Given the description of an element on the screen output the (x, y) to click on. 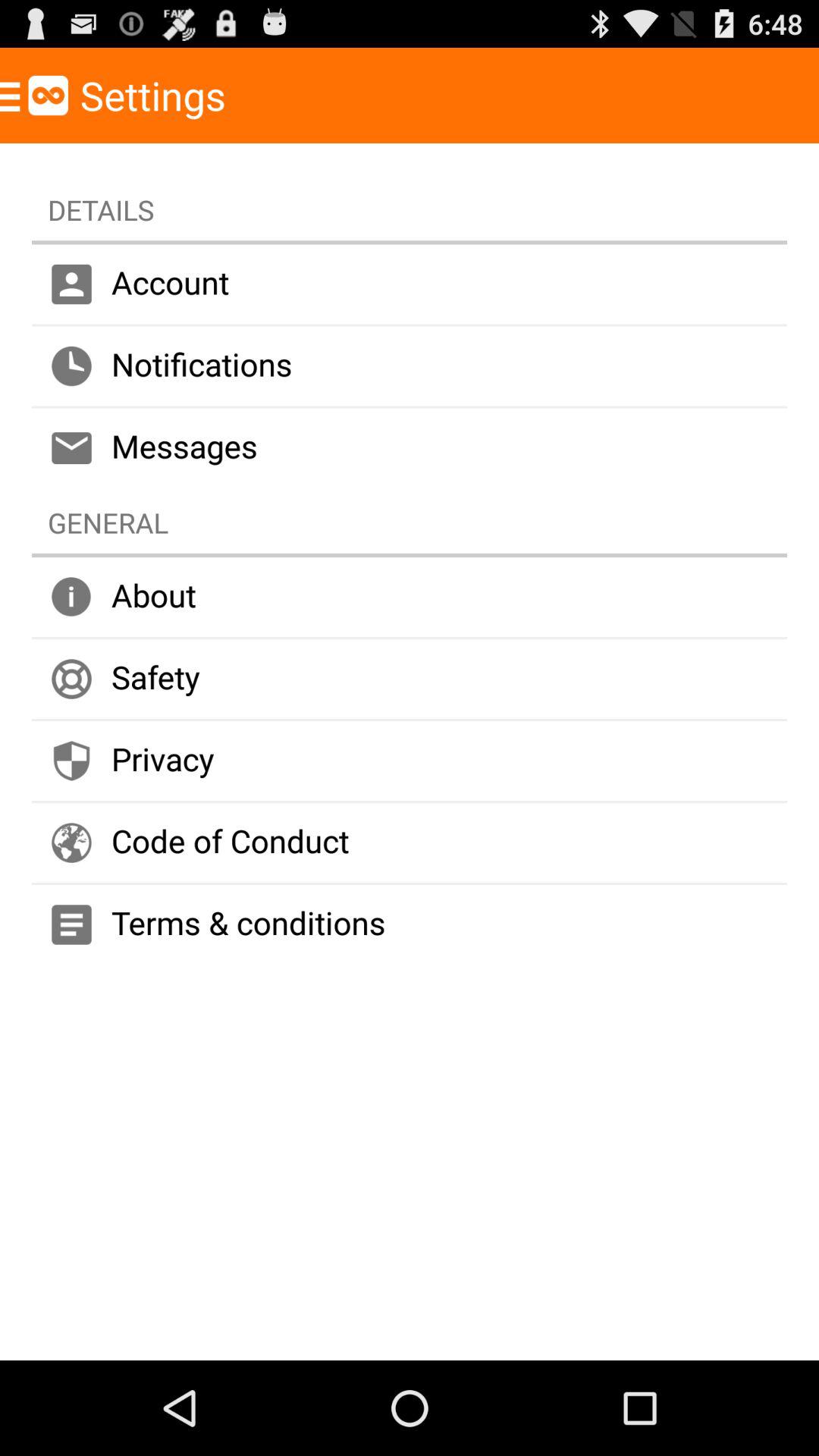
select icon above notifications icon (409, 284)
